Given the description of an element on the screen output the (x, y) to click on. 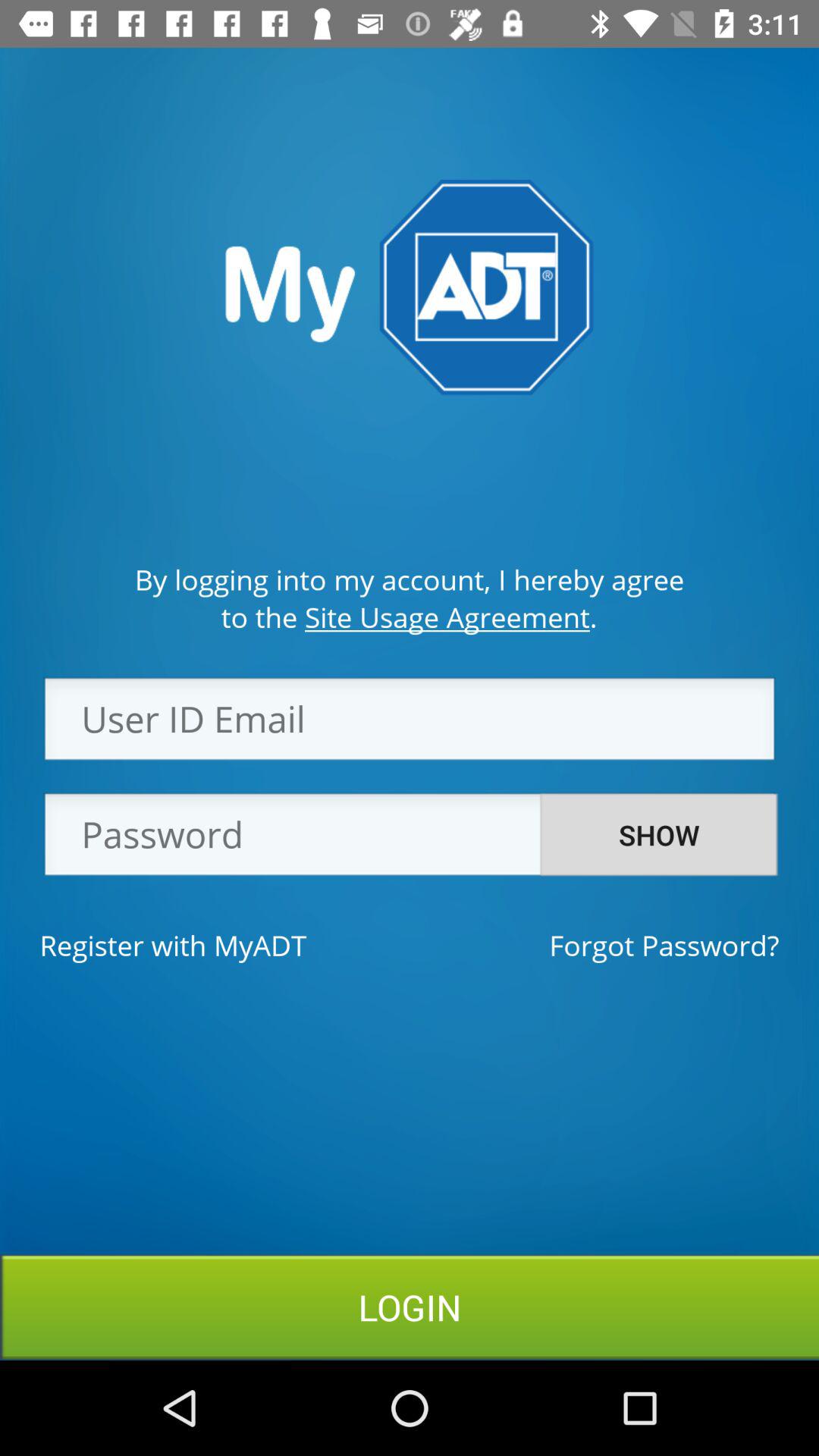
tap the to the site icon (409, 616)
